Given the description of an element on the screen output the (x, y) to click on. 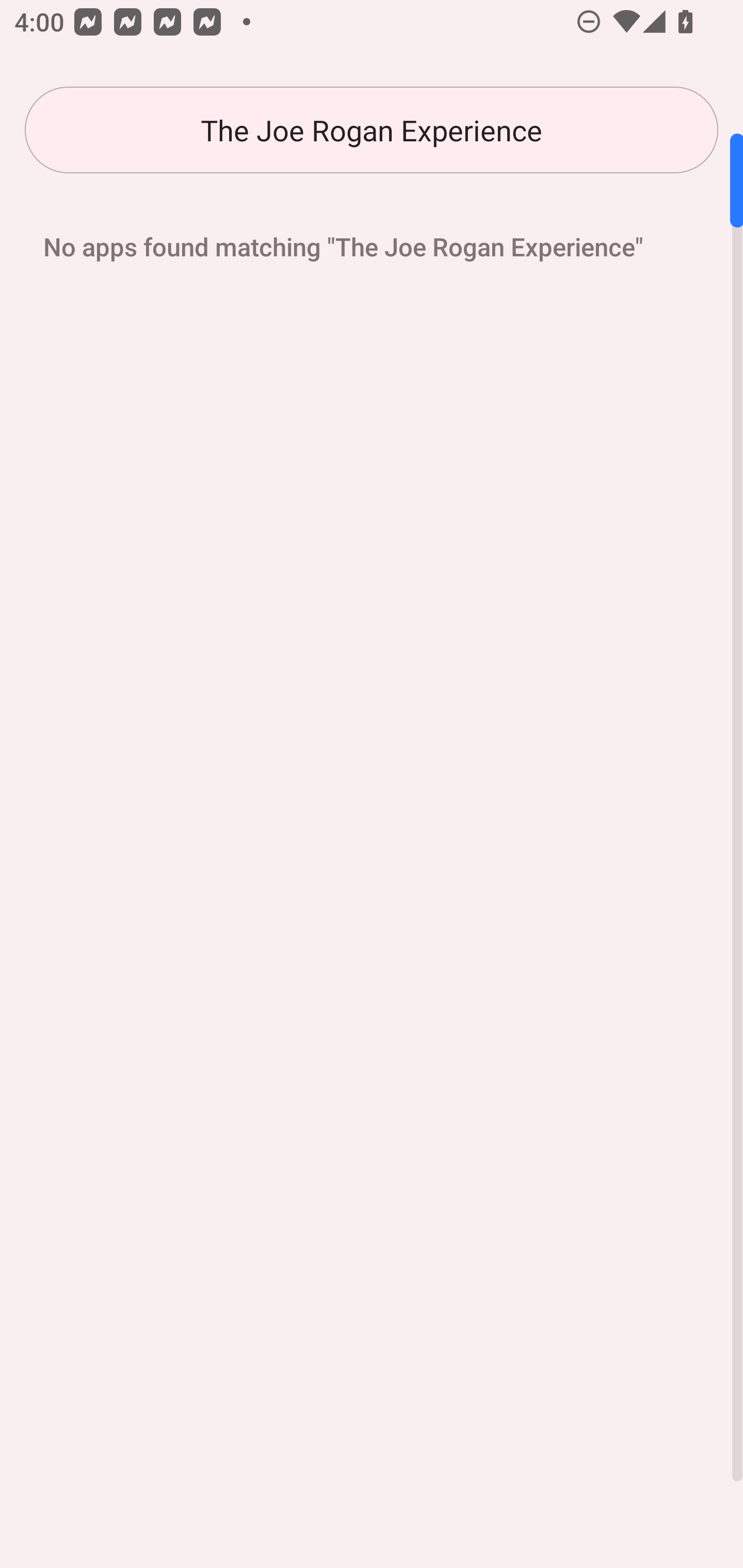
The Joe Rogan Experience (371, 130)
